Given the description of an element on the screen output the (x, y) to click on. 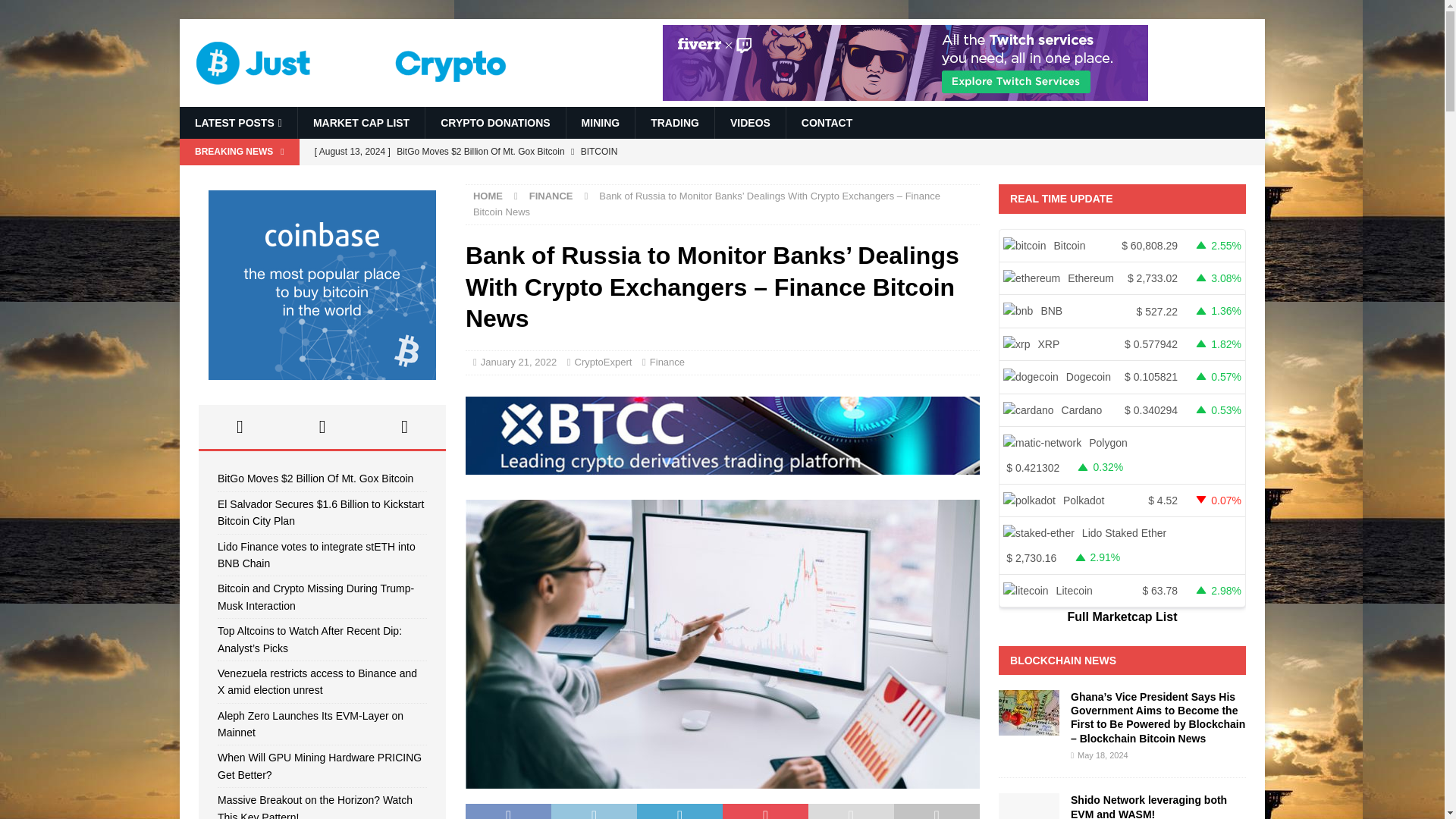
LATEST POSTS (238, 122)
CONTACT (826, 122)
CRYPTO DONATIONS (494, 122)
FINANCE (551, 195)
MINING (600, 122)
CryptoExpert (603, 361)
Finance (666, 361)
MARKET CAP LIST (361, 122)
HOME (487, 195)
TRADING (674, 122)
